Given the description of an element on the screen output the (x, y) to click on. 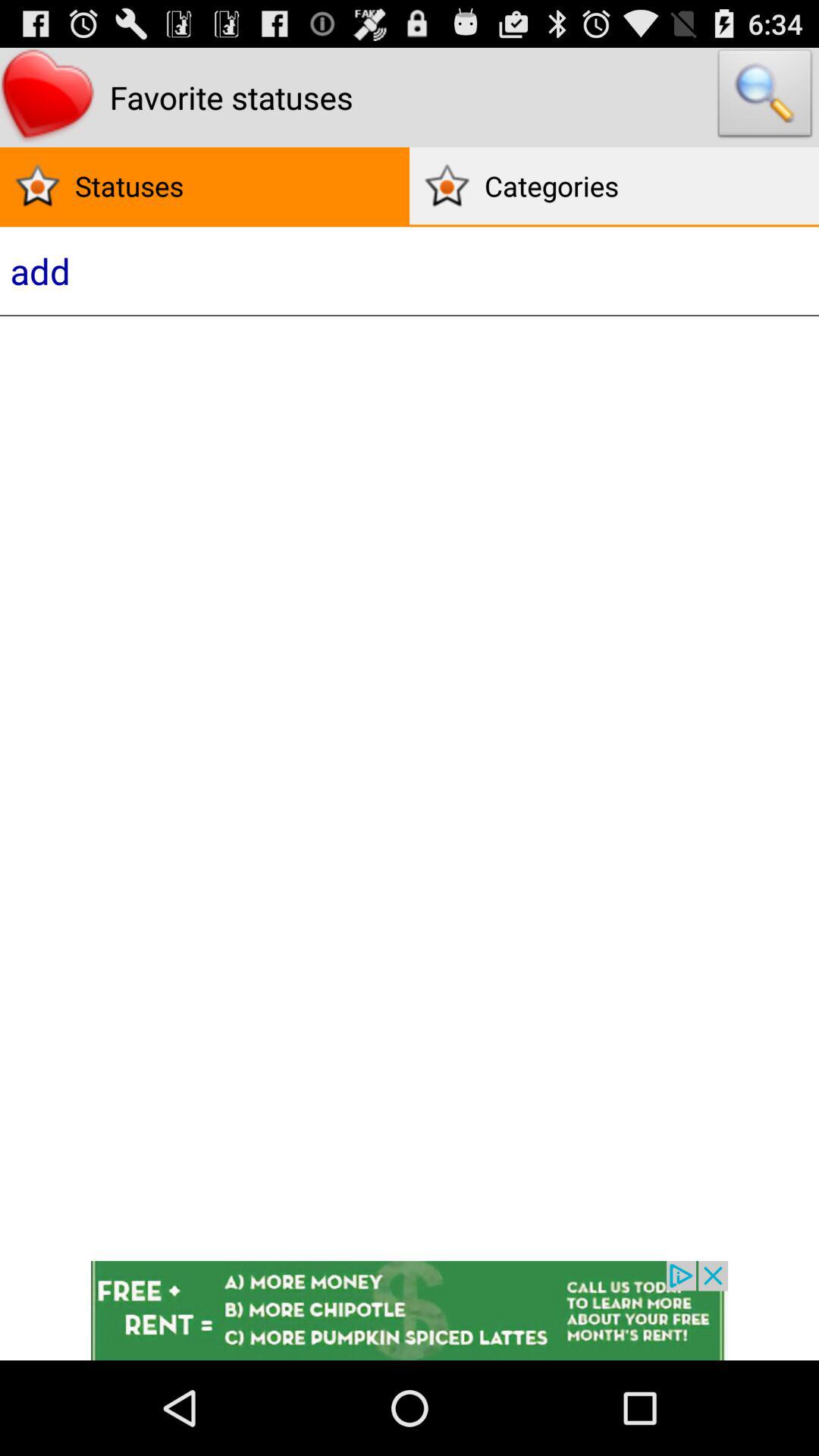
advertisement (409, 1310)
